Given the description of an element on the screen output the (x, y) to click on. 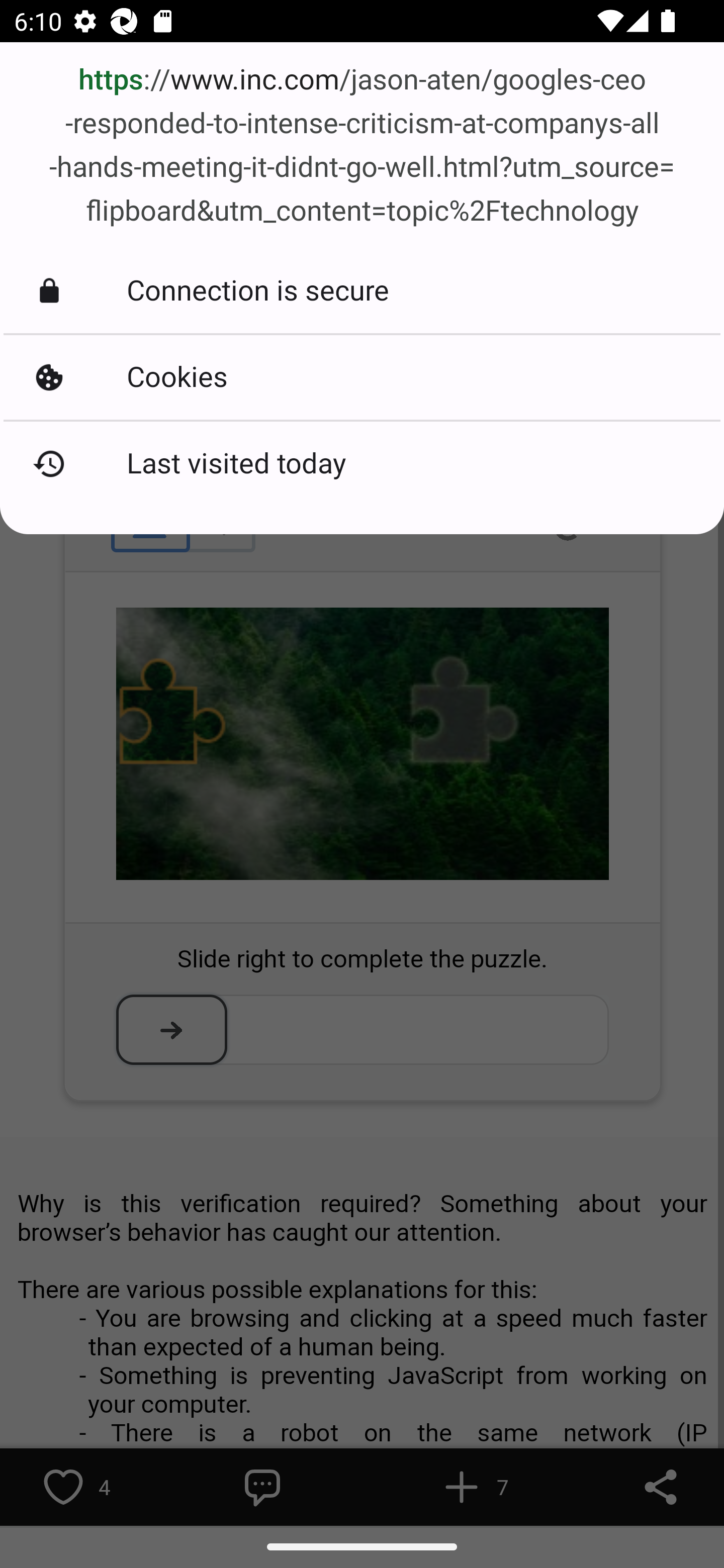
Connection is secure (362, 290)
Cookies (362, 377)
Last visited today (362, 463)
